Given the description of an element on the screen output the (x, y) to click on. 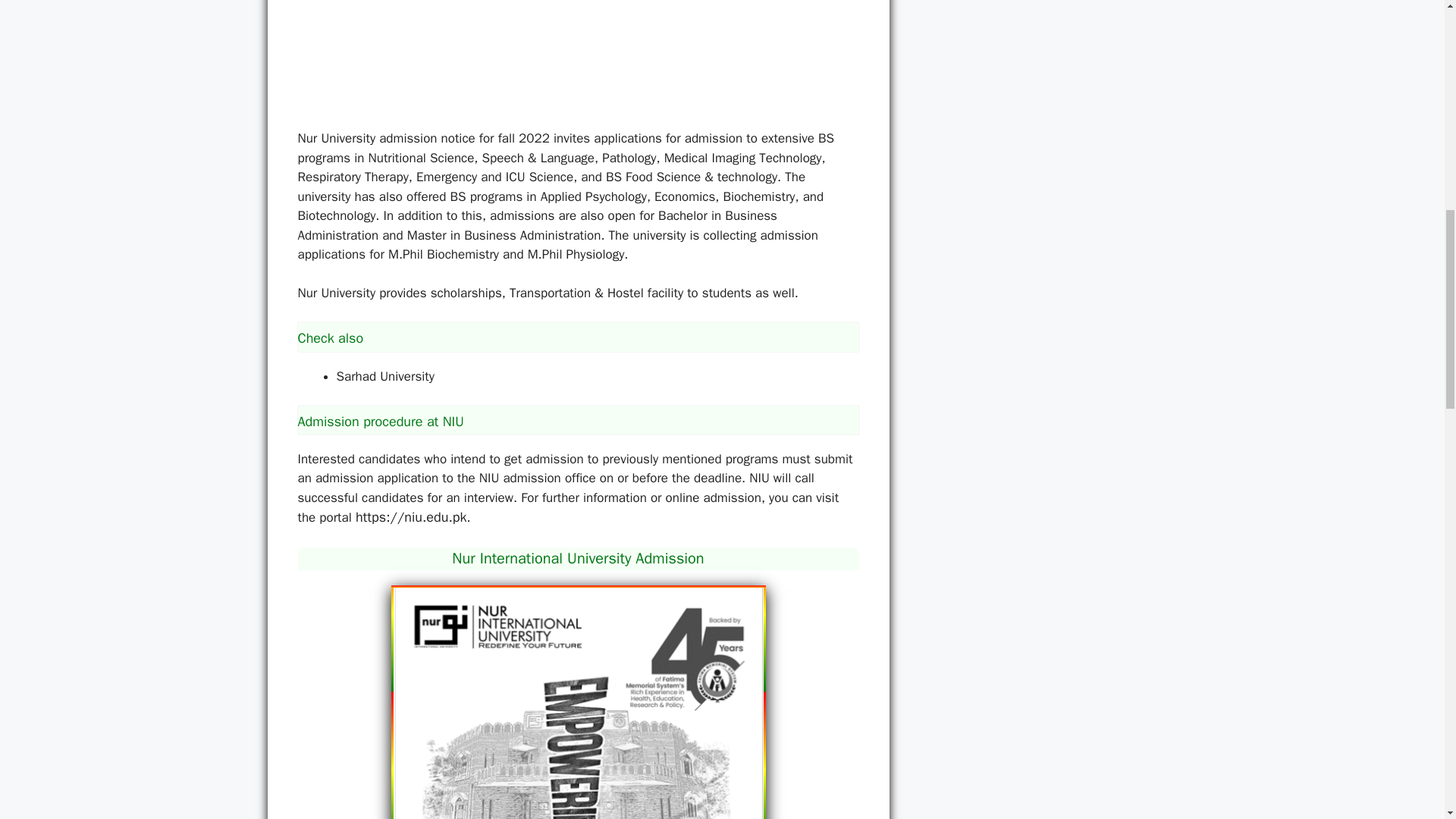
Sarhad University (384, 376)
